Given the description of an element on the screen output the (x, y) to click on. 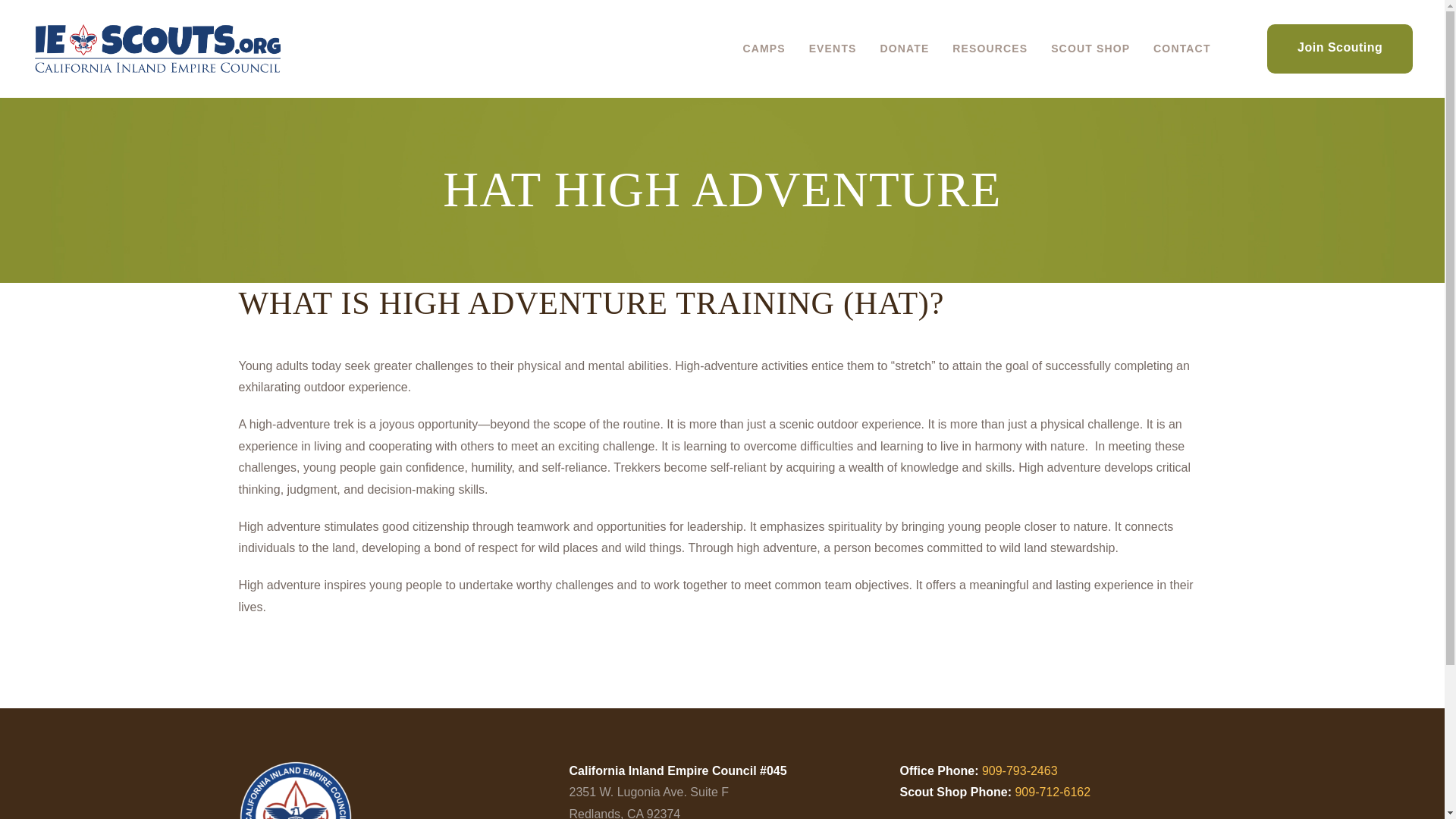
Join Scouting (1339, 48)
CAMPS (763, 48)
SCOUT SHOP (1090, 48)
EVENTS (831, 48)
CONTACT (1182, 48)
RESOURCES (989, 48)
DONATE (903, 48)
